Given the description of an element on the screen output the (x, y) to click on. 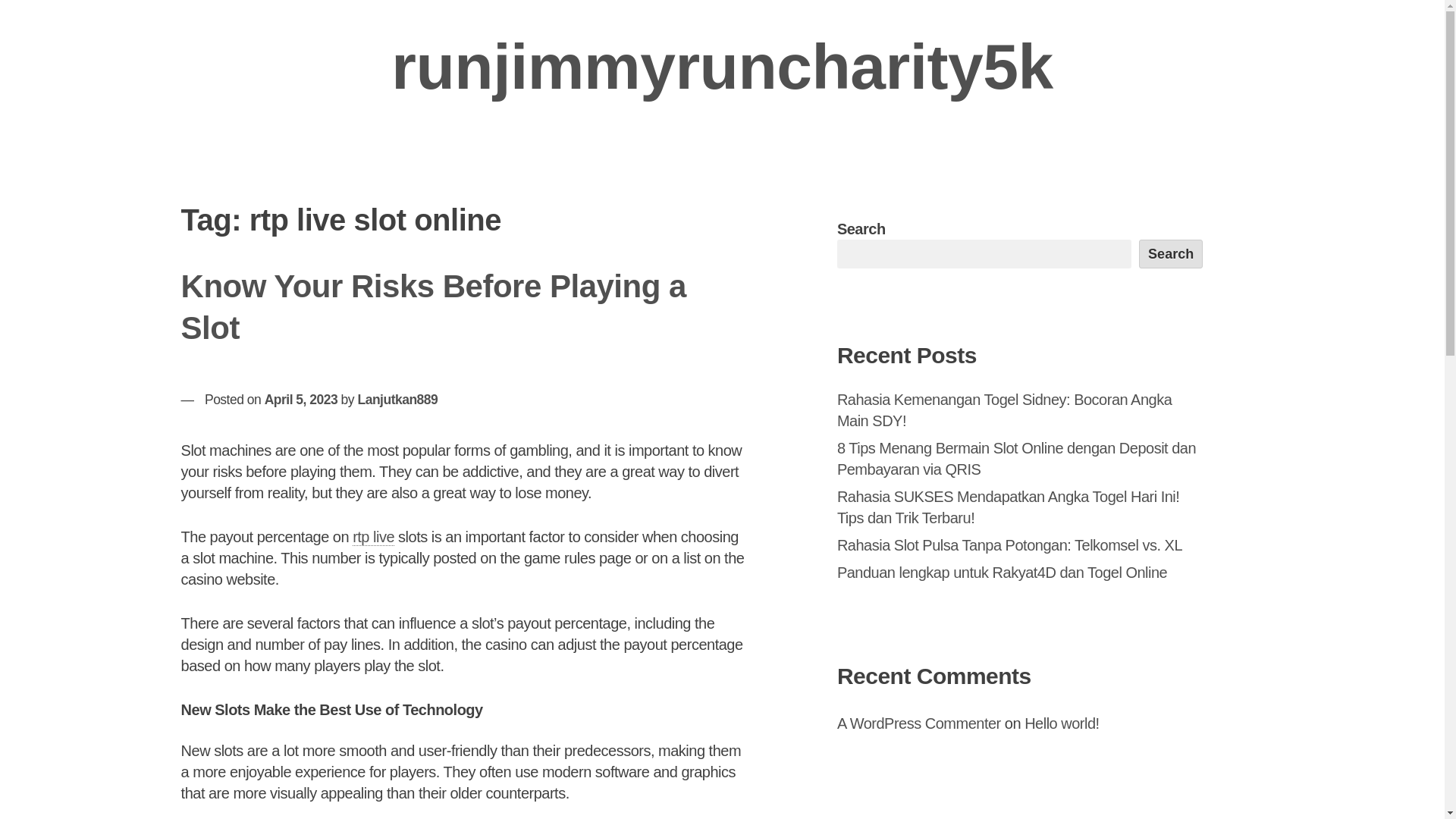
Rahasia Slot Pulsa Tanpa Potongan: Telkomsel vs. XL (1009, 545)
A WordPress Commenter (919, 723)
Know Your Risks Before Playing a Slot (432, 306)
Hello world! (1062, 723)
Panduan lengkap untuk Rakyat4D dan Togel Online (1002, 572)
rtp live (373, 537)
Rahasia Kemenangan Togel Sidney: Bocoran Angka Main SDY! (1004, 410)
Lanjutkan889 (397, 399)
April 5, 2023 (300, 399)
Search (1171, 253)
runjimmyruncharity5k (721, 66)
